Given the description of an element on the screen output the (x, y) to click on. 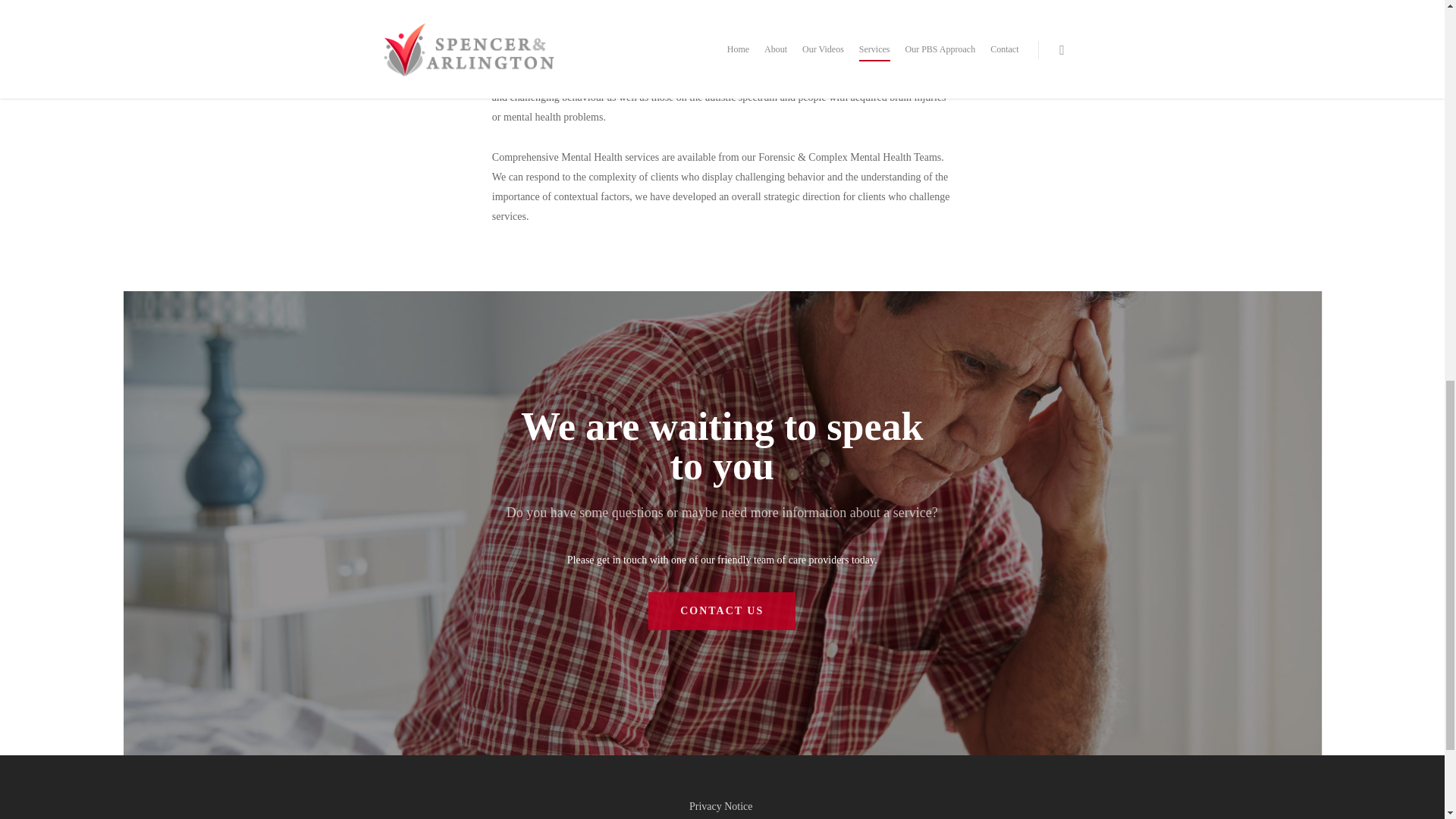
CONTACT US (720, 610)
Privacy Notice  (721, 806)
